Given the description of an element on the screen output the (x, y) to click on. 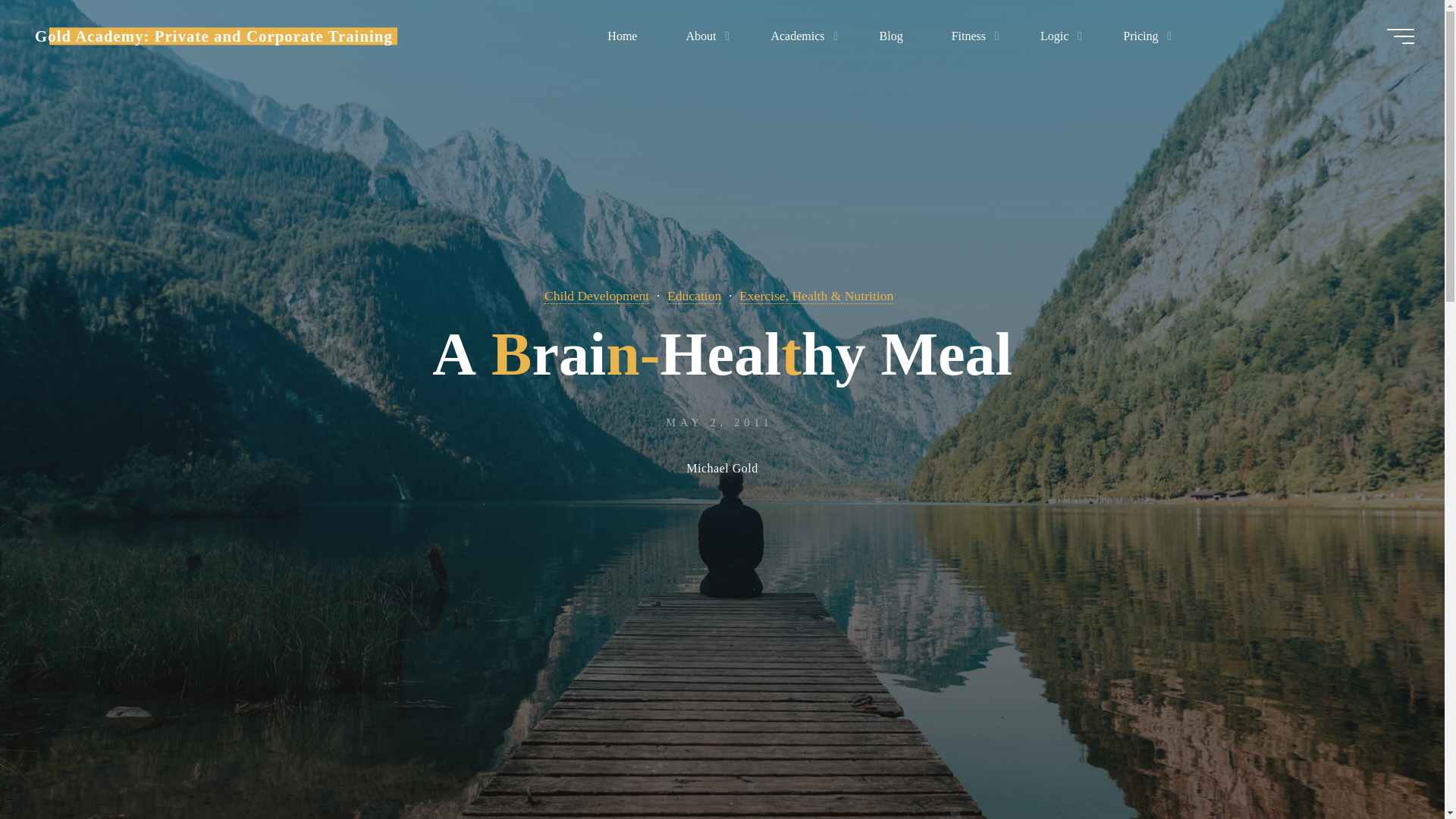
Read more (721, 724)
View all posts by Michael Gold (721, 469)
